Given the description of an element on the screen output the (x, y) to click on. 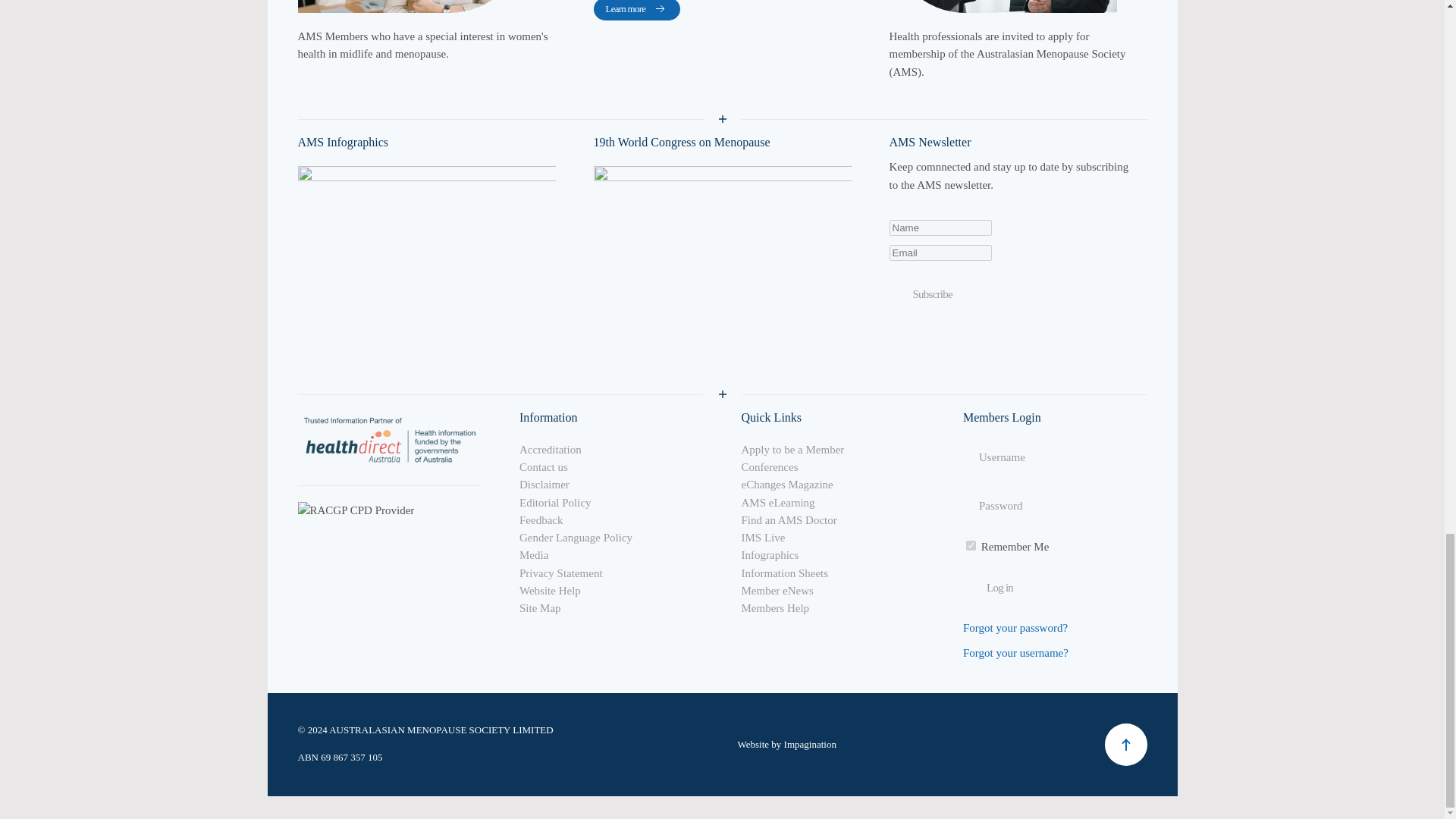
Subscribe (931, 294)
Learn more (635, 10)
yes (970, 545)
